Given the description of an element on the screen output the (x, y) to click on. 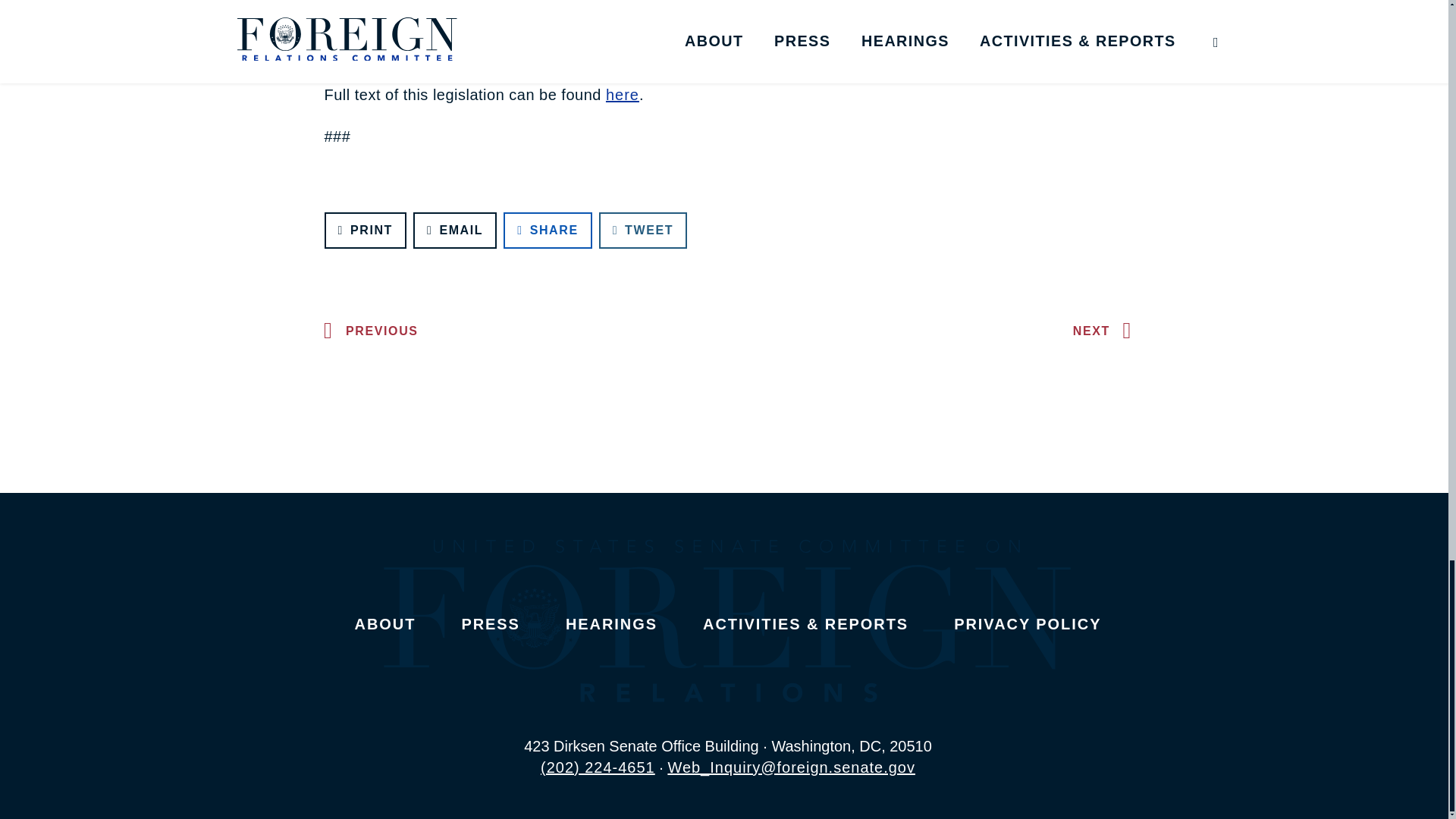
Privacy Policy (1026, 623)
Hearings (612, 623)
NEXT (1105, 330)
PREVIOUS (367, 330)
TWEET (642, 230)
Press (490, 623)
EMAIL (454, 230)
PRINT (365, 230)
here (622, 94)
ABOUT (385, 623)
About (385, 623)
SHARE (547, 230)
